Given the description of an element on the screen output the (x, y) to click on. 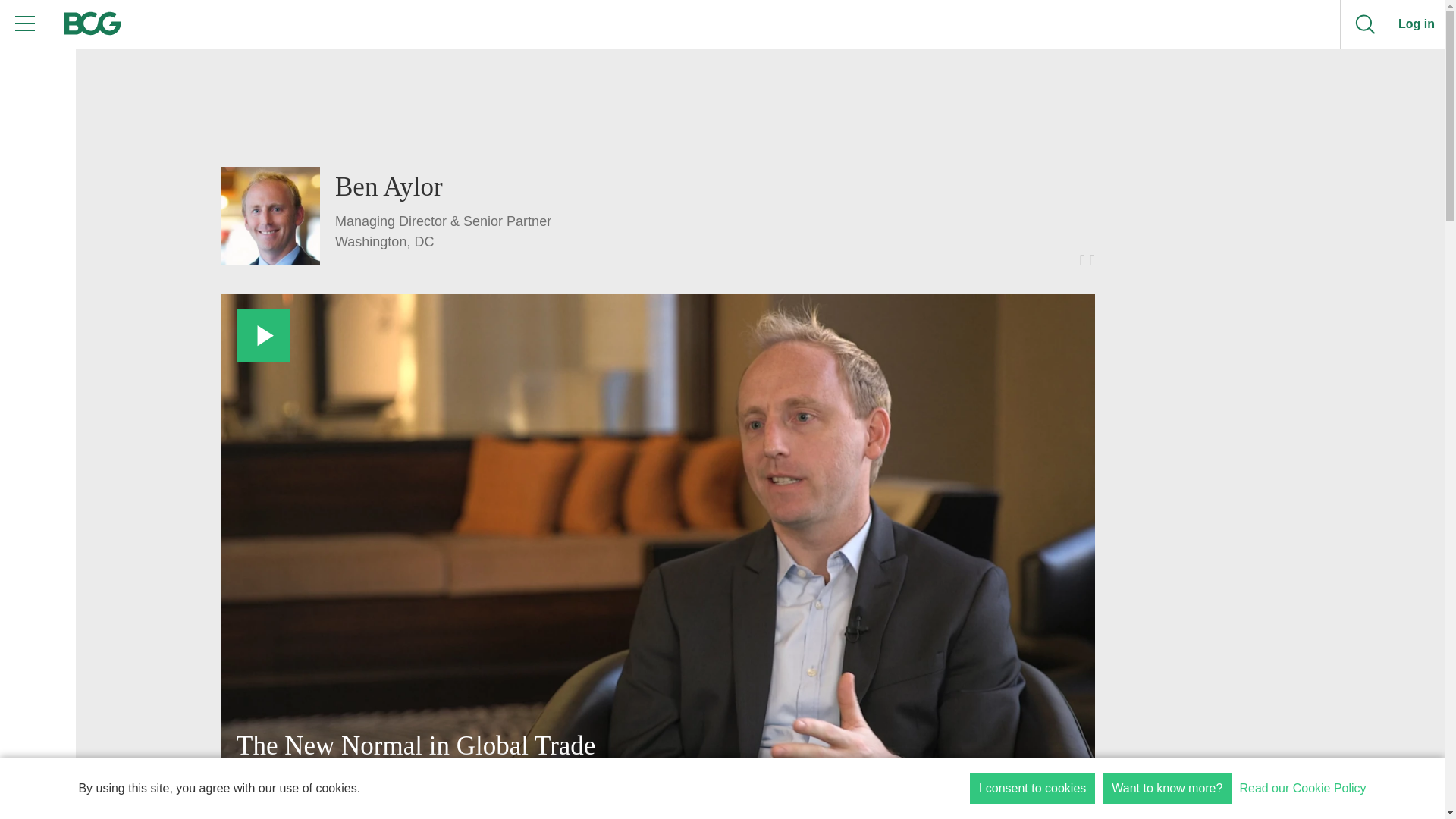
Log in (1416, 24)
Play Video (262, 335)
Washington, DC (442, 241)
Play Video (262, 335)
